Given the description of an element on the screen output the (x, y) to click on. 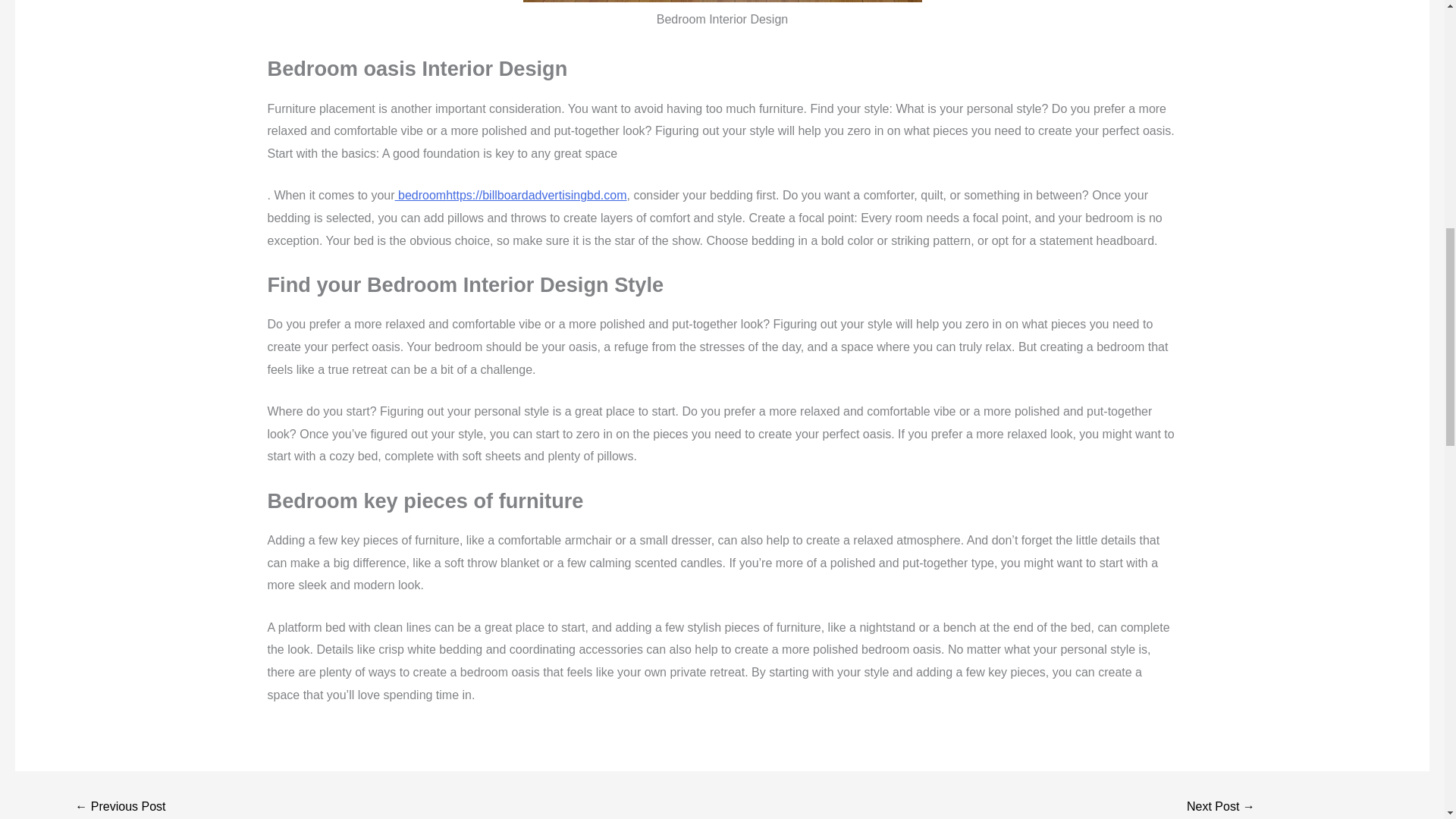
bedroom (420, 195)
Office Interior Design in Dhaka bangladesh (1220, 806)
